Given the description of an element on the screen output the (x, y) to click on. 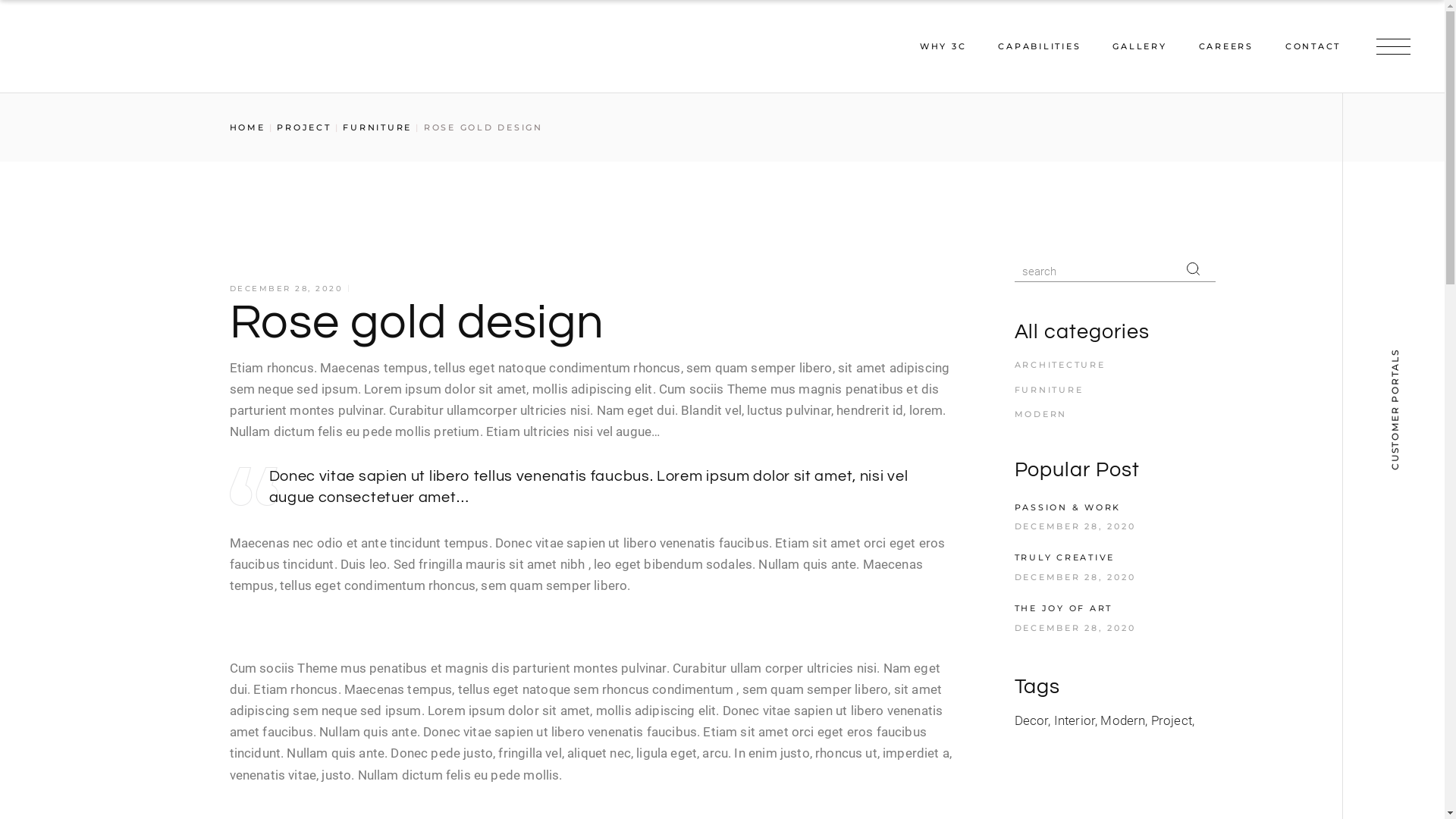
FURNITURE Element type: text (1048, 389)
WHY 3C Element type: text (942, 46)
DECEMBER 28, 2020 Element type: text (285, 288)
DECEMBER 28, 2020 Element type: text (1074, 525)
PROJECT Element type: text (303, 127)
CAPABILITIES Element type: text (1038, 46)
GALLERY Element type: text (1139, 46)
DECEMBER 28, 2020 Element type: text (1074, 627)
ARCHITECTURE Element type: text (1059, 364)
THE JOY OF ART Element type: text (1063, 607)
CAREERS Element type: text (1225, 46)
Modern Element type: text (1123, 720)
HOME Element type: text (246, 127)
TRULY CREATIVE Element type: text (1064, 557)
MODERN Element type: text (1040, 413)
Project Element type: text (1172, 720)
DECEMBER 28, 2020 Element type: text (1074, 576)
Decor Element type: text (1032, 720)
PASSION & WORK Element type: text (1067, 507)
FURNITURE Element type: text (376, 127)
CONTACT Element type: text (1312, 46)
Interior Element type: text (1076, 720)
